Given the description of an element on the screen output the (x, y) to click on. 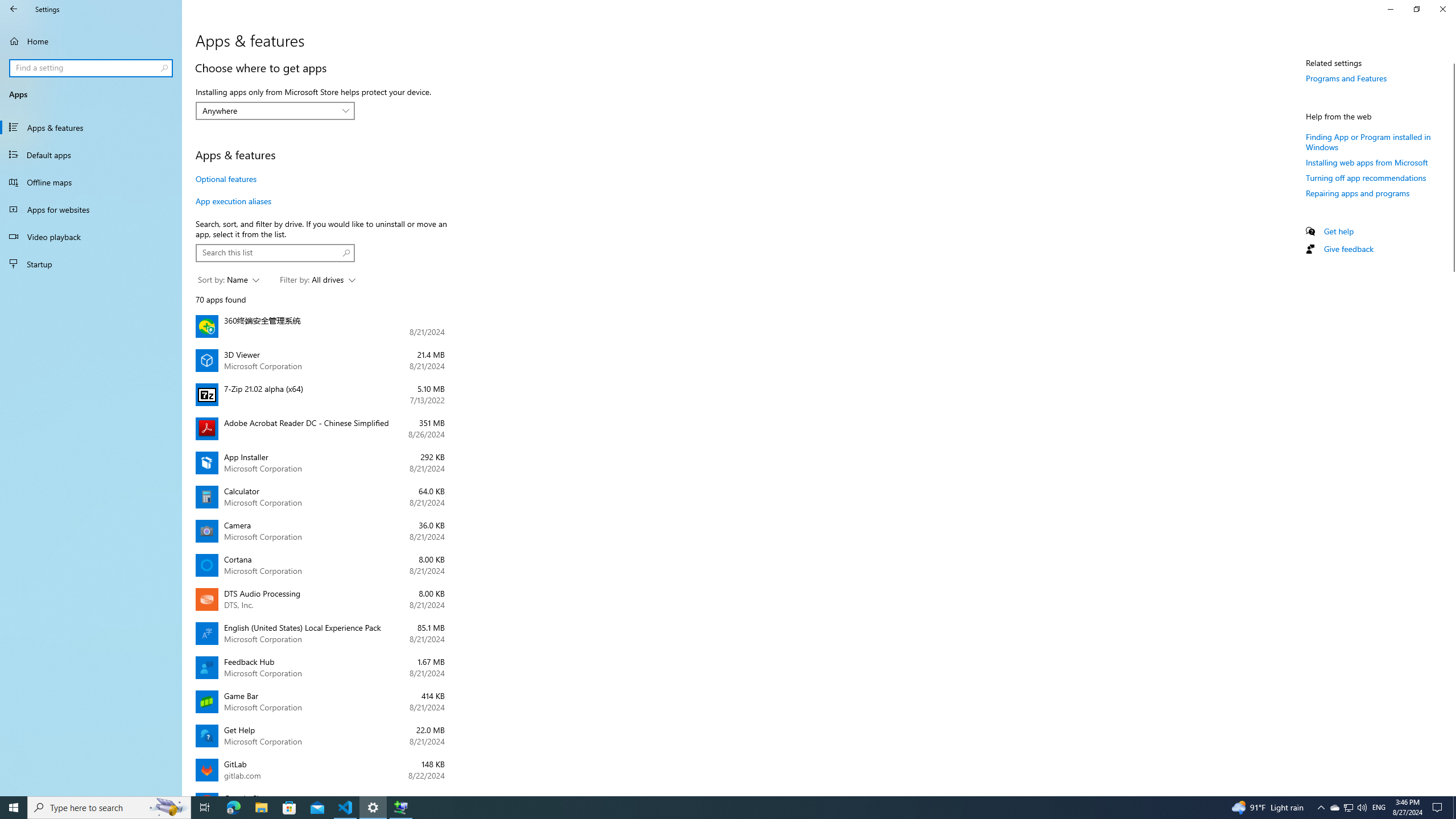
Type here to search (108, 807)
Search highlights icon opens search home window (167, 807)
Notification Chevron (1320, 807)
App execution aliases (233, 200)
Running applications (1333, 807)
Sort by: Name (706, 807)
Default apps (228, 280)
Show desktop (91, 154)
Repairing apps and programs (1454, 807)
Apps for websites (1357, 192)
Vertical Large Increase (91, 208)
Action Center, No new notifications (1451, 529)
